Given the description of an element on the screen output the (x, y) to click on. 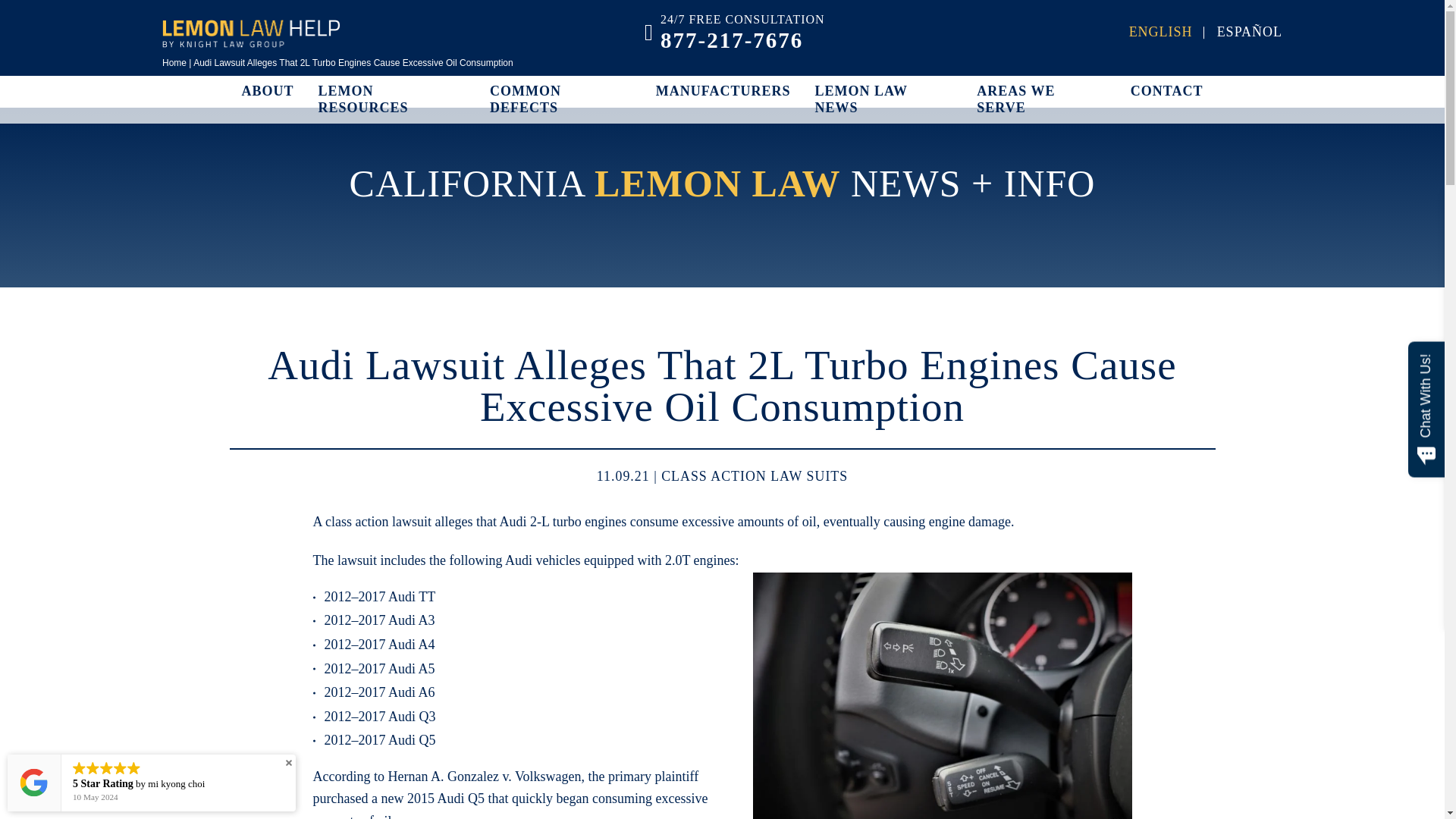
MANUFACTURERS (723, 91)
Home (173, 62)
COMMON DEFECTS (560, 99)
LEMON RESOURCES (391, 99)
ENGLISH (1160, 31)
ABOUT (267, 91)
